Given the description of an element on the screen output the (x, y) to click on. 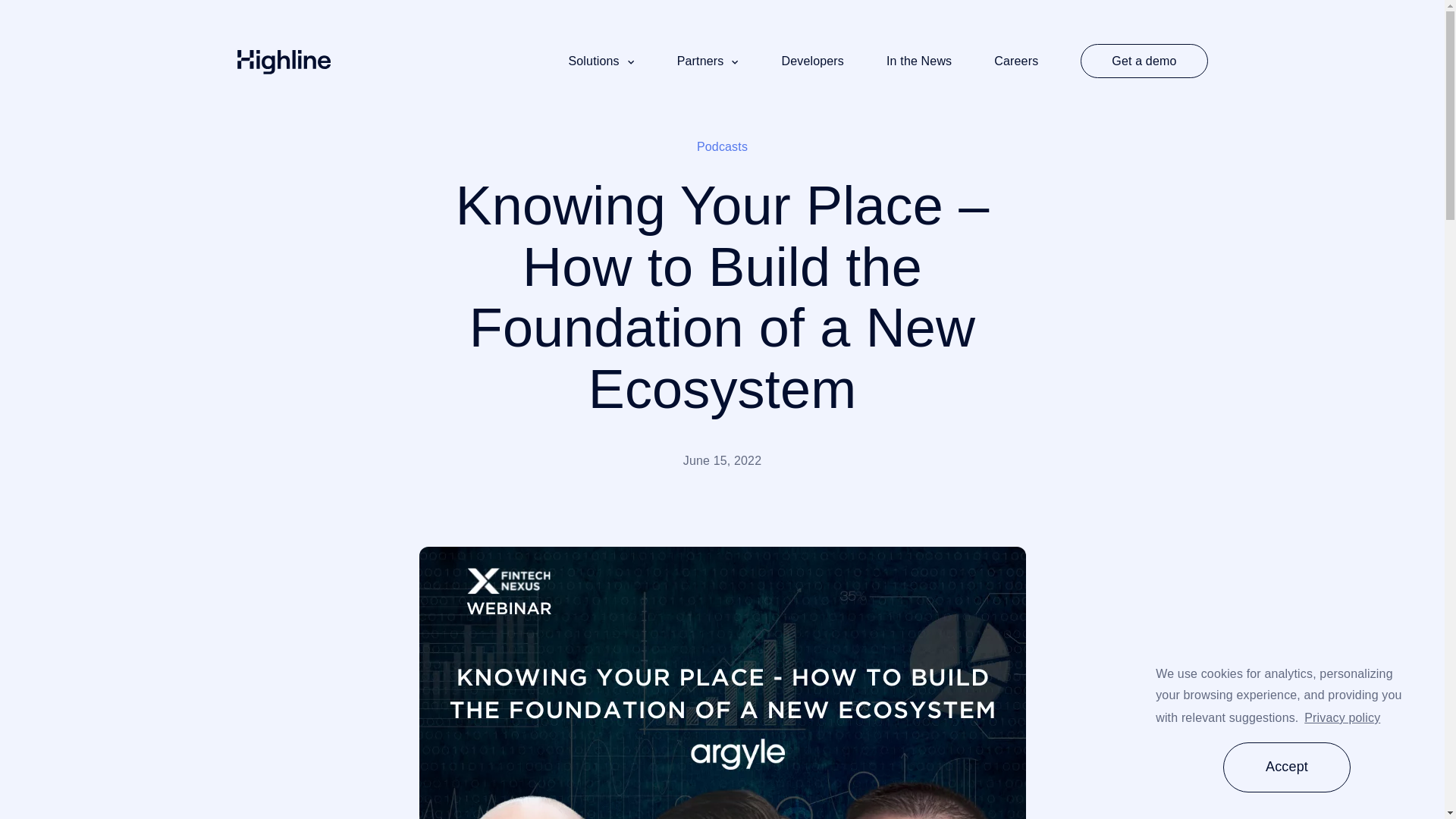
Careers (1016, 64)
Partners (708, 64)
Privacy policy (1341, 718)
In the News (919, 64)
Solutions (600, 64)
Get a demo (1143, 60)
Developers (812, 64)
Accept (1287, 767)
